Given the description of an element on the screen output the (x, y) to click on. 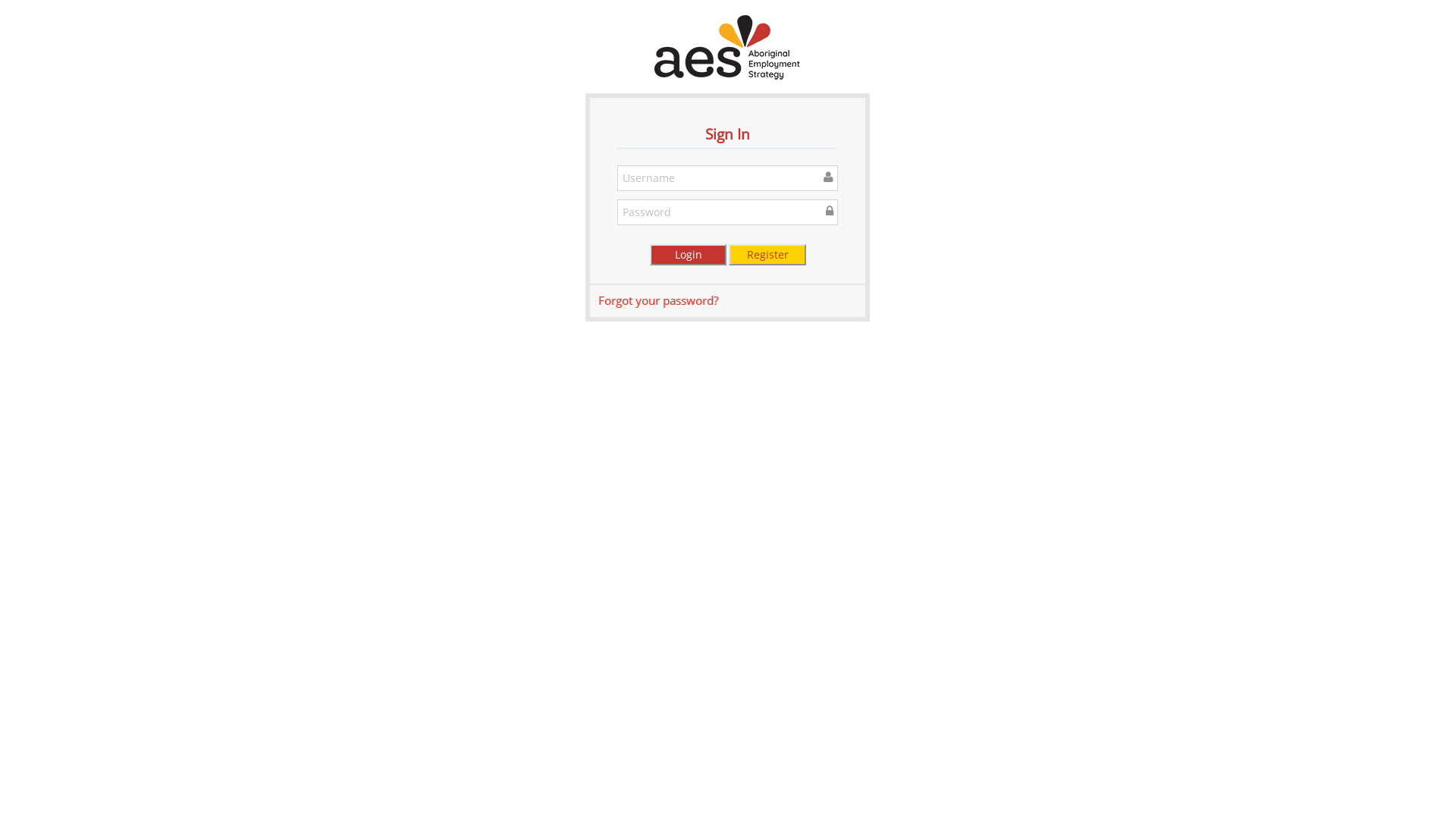
Register Element type: text (767, 254)
Register Element type: text (767, 254)
Login Element type: text (688, 254)
Forgot your password? Element type: text (658, 299)
